Given the description of an element on the screen output the (x, y) to click on. 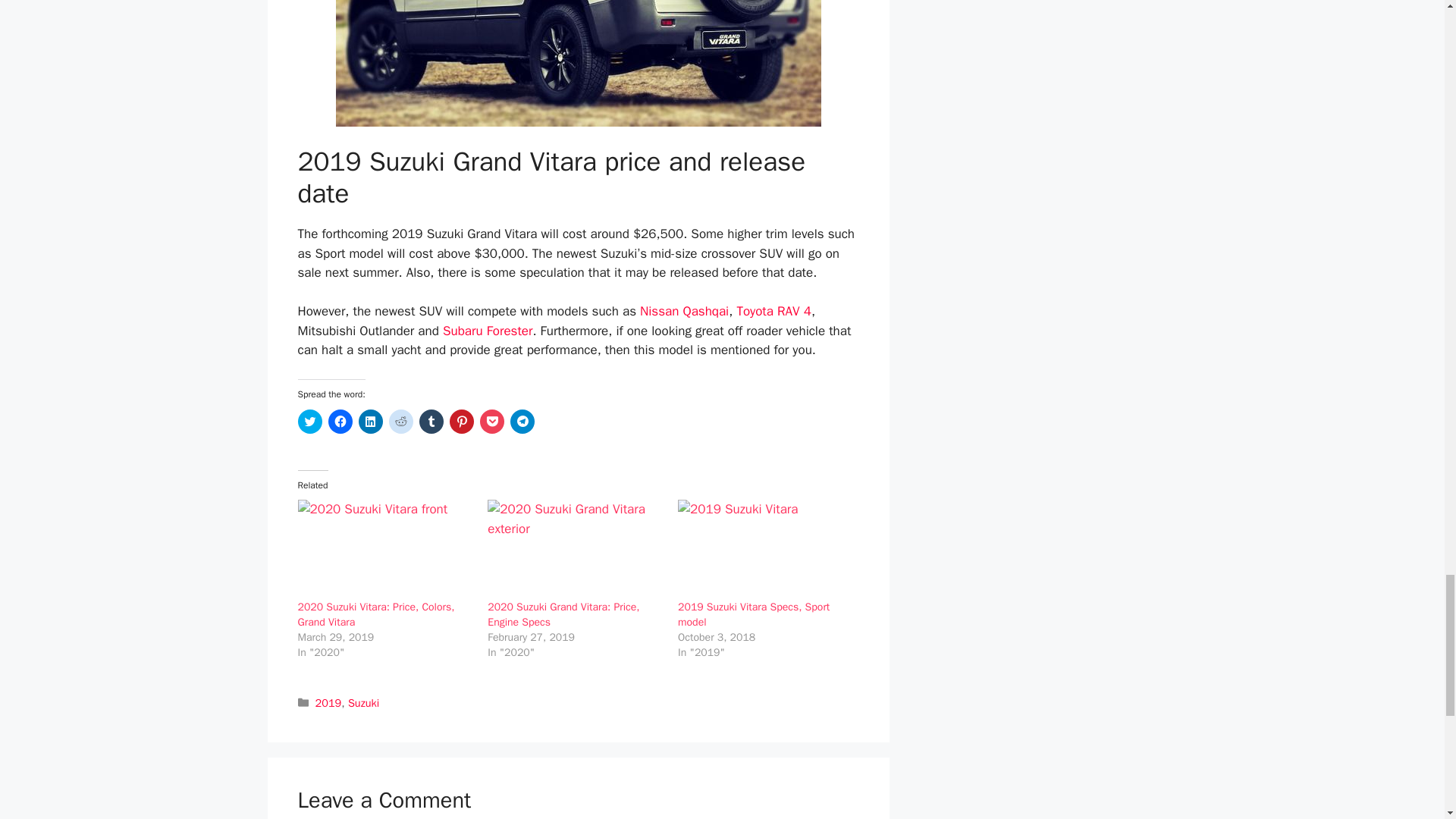
2020 Suzuki Vitara: Price, Colors, Grand Vitara (384, 549)
Nissan Qashqai (684, 311)
2020 Suzuki Grand Vitara: Price, Engine Specs (563, 614)
2020 Suzuki Grand Vitara: Price, Engine Specs (563, 614)
Subaru Forester (487, 330)
2020 Suzuki Vitara: Price, Colors, Grand Vitara (375, 614)
Click to share on Pinterest (460, 421)
Click to share on Reddit (400, 421)
2020 Suzuki Grand Vitara: Price, Engine Specs (574, 549)
Click to share on Twitter (309, 421)
2020 Suzuki Vitara: Price, Colors, Grand Vitara (375, 614)
Toyota RAV 4 (773, 311)
Click to share on Facebook (339, 421)
Click to share on LinkedIn (369, 421)
Click to share on Telegram (521, 421)
